Given the description of an element on the screen output the (x, y) to click on. 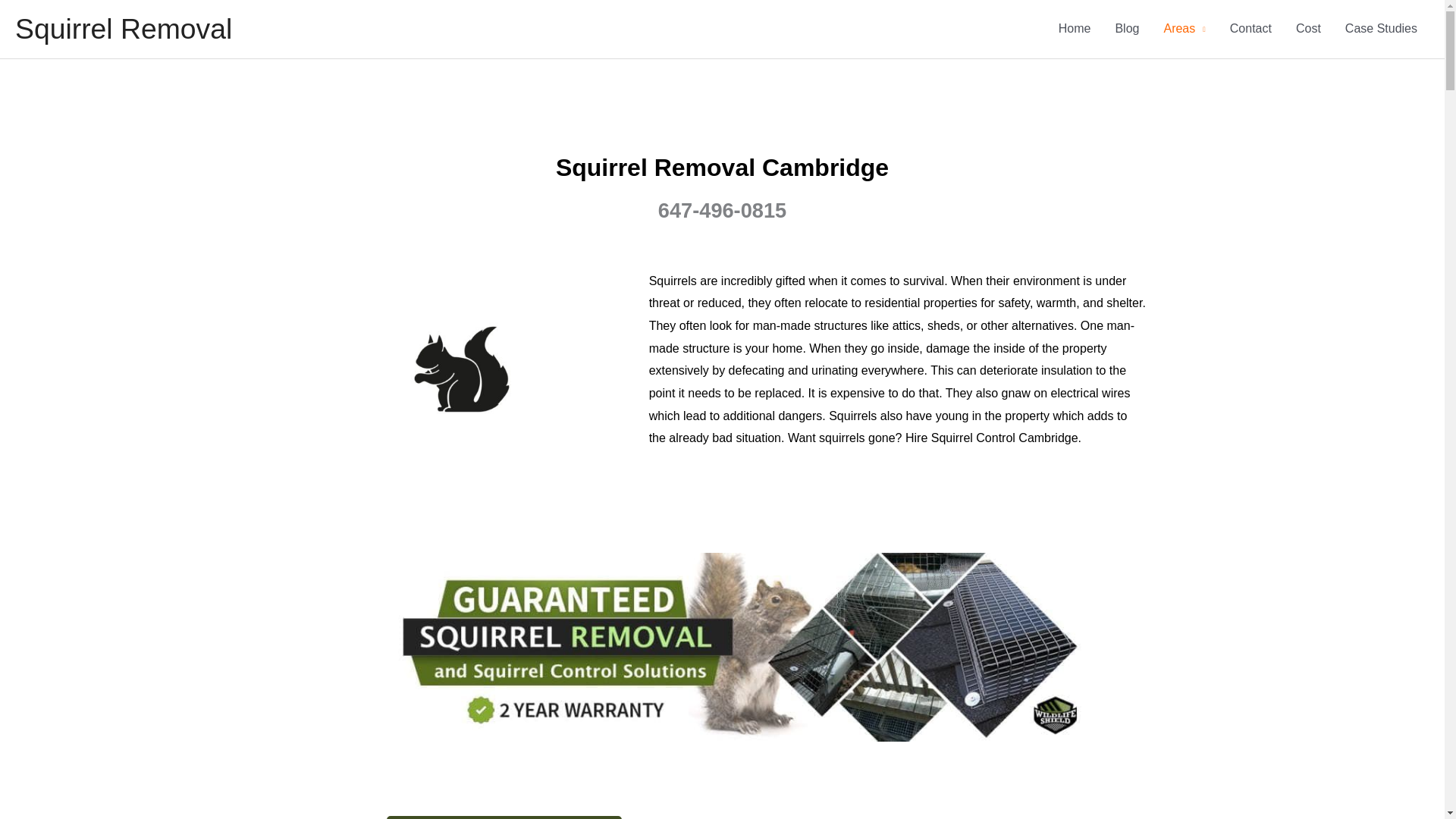
Home (1074, 28)
Blog (1126, 28)
Squirrel Removal (122, 29)
DON'T LET IT GET TO THIS (504, 817)
Case Studies (1381, 28)
Cost (1308, 28)
Contact (1250, 28)
Areas (1184, 28)
